Given the description of an element on the screen output the (x, y) to click on. 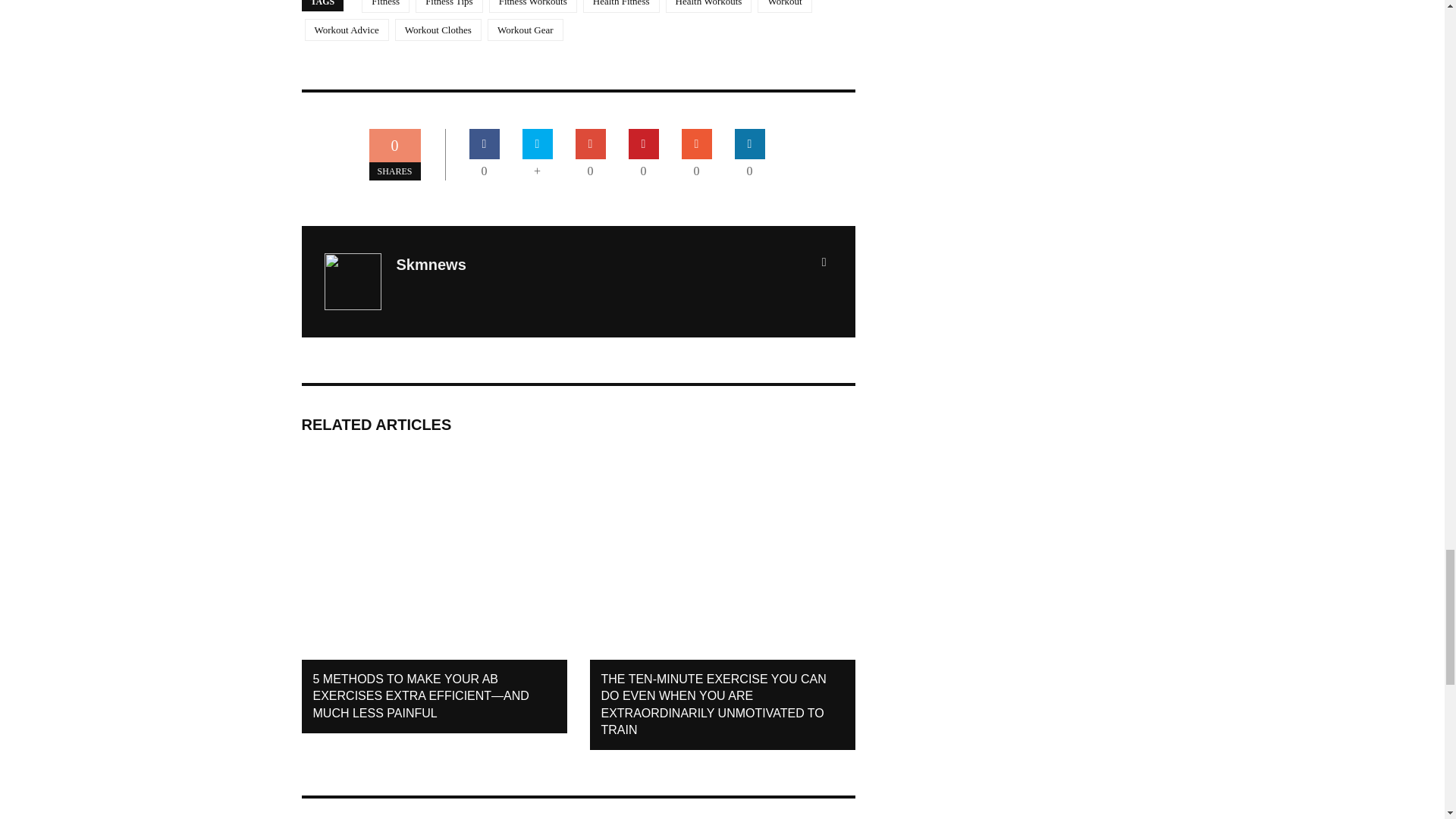
View all posts tagged Workout Gear (525, 29)
Fitness Workouts (532, 6)
View all posts tagged Workout (783, 6)
View all posts tagged Workout Clothes (437, 29)
View all posts tagged Fitness Tips (448, 6)
View all posts tagged Health Fitness (621, 6)
Fitness Tips (448, 6)
Health Workouts (708, 6)
View all posts tagged Health Workouts (708, 6)
Health Fitness (621, 6)
Fitness (385, 6)
View all posts tagged Fitness Workouts (532, 6)
View all posts tagged Workout Advice (346, 29)
View all posts tagged Fitness (385, 6)
